Given the description of an element on the screen output the (x, y) to click on. 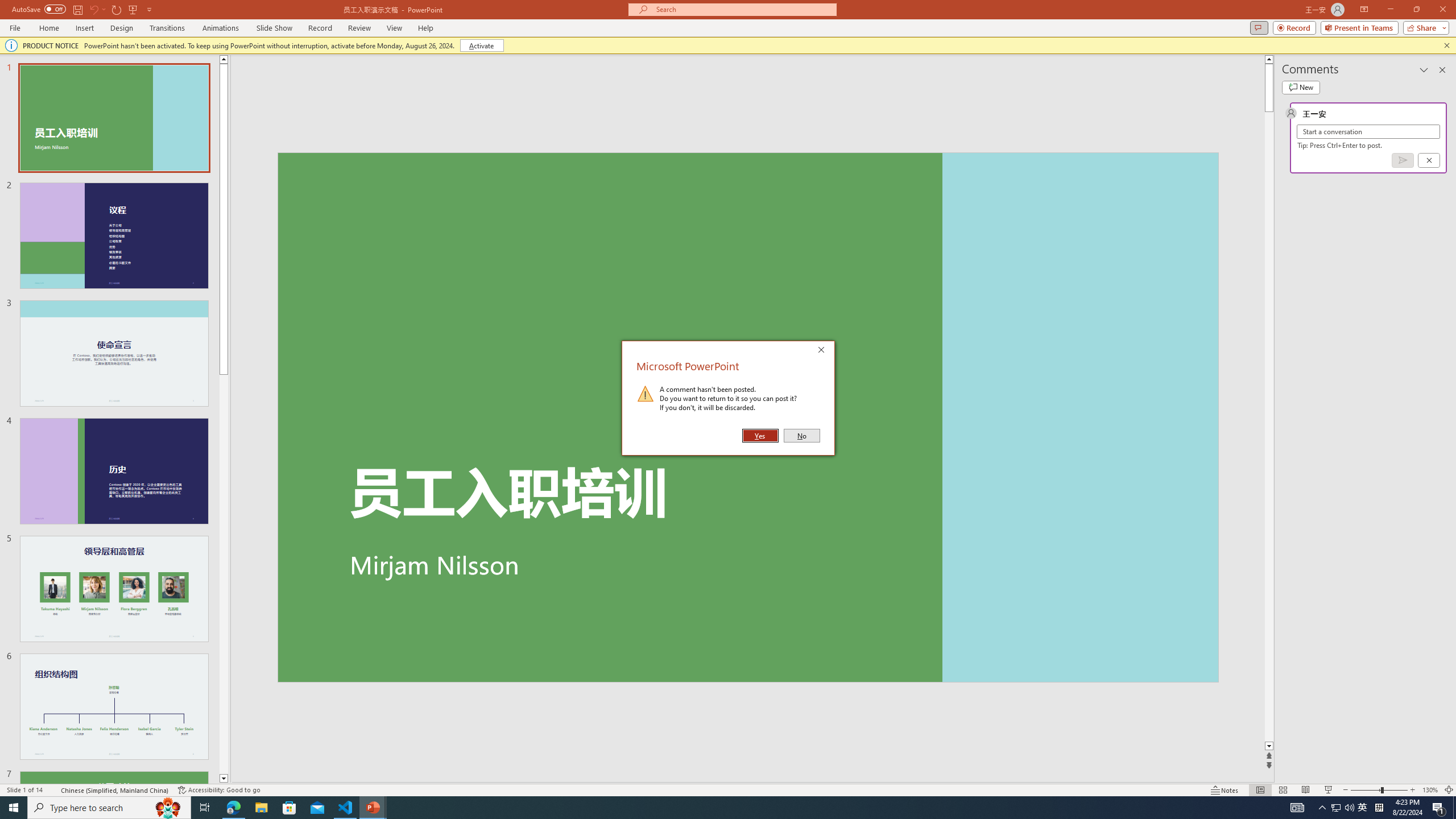
Activate (481, 45)
New comment (1300, 87)
Start a conversation (1368, 131)
Spell Check  (52, 790)
